Given the description of an element on the screen output the (x, y) to click on. 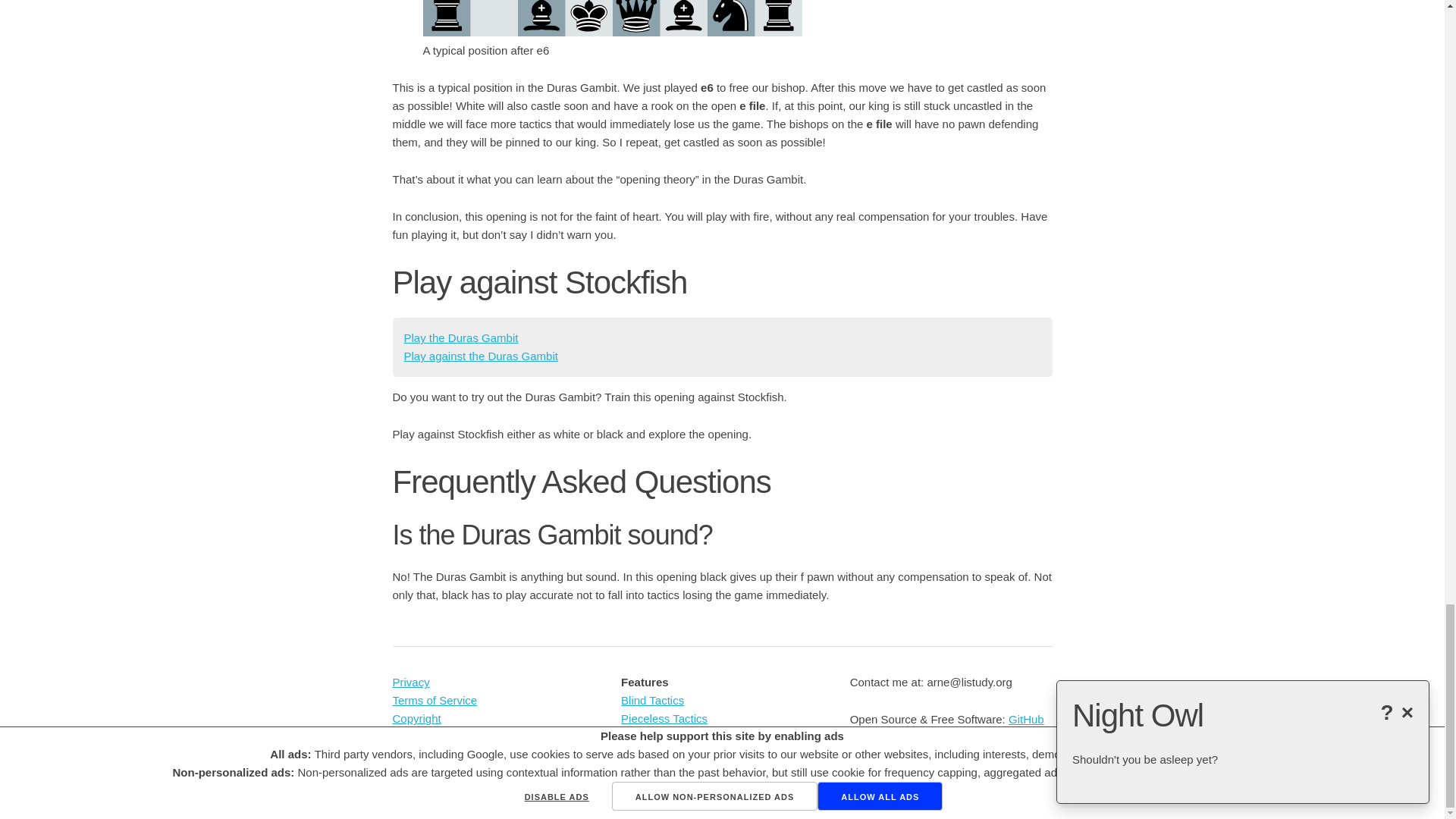
Play the Duras Gambit (460, 337)
Thank you! (420, 754)
Terms of Service (435, 699)
Privacy (411, 681)
Imprint (410, 736)
Copyright (417, 717)
Play against the Duras Gambit (480, 355)
